Given the description of an element on the screen output the (x, y) to click on. 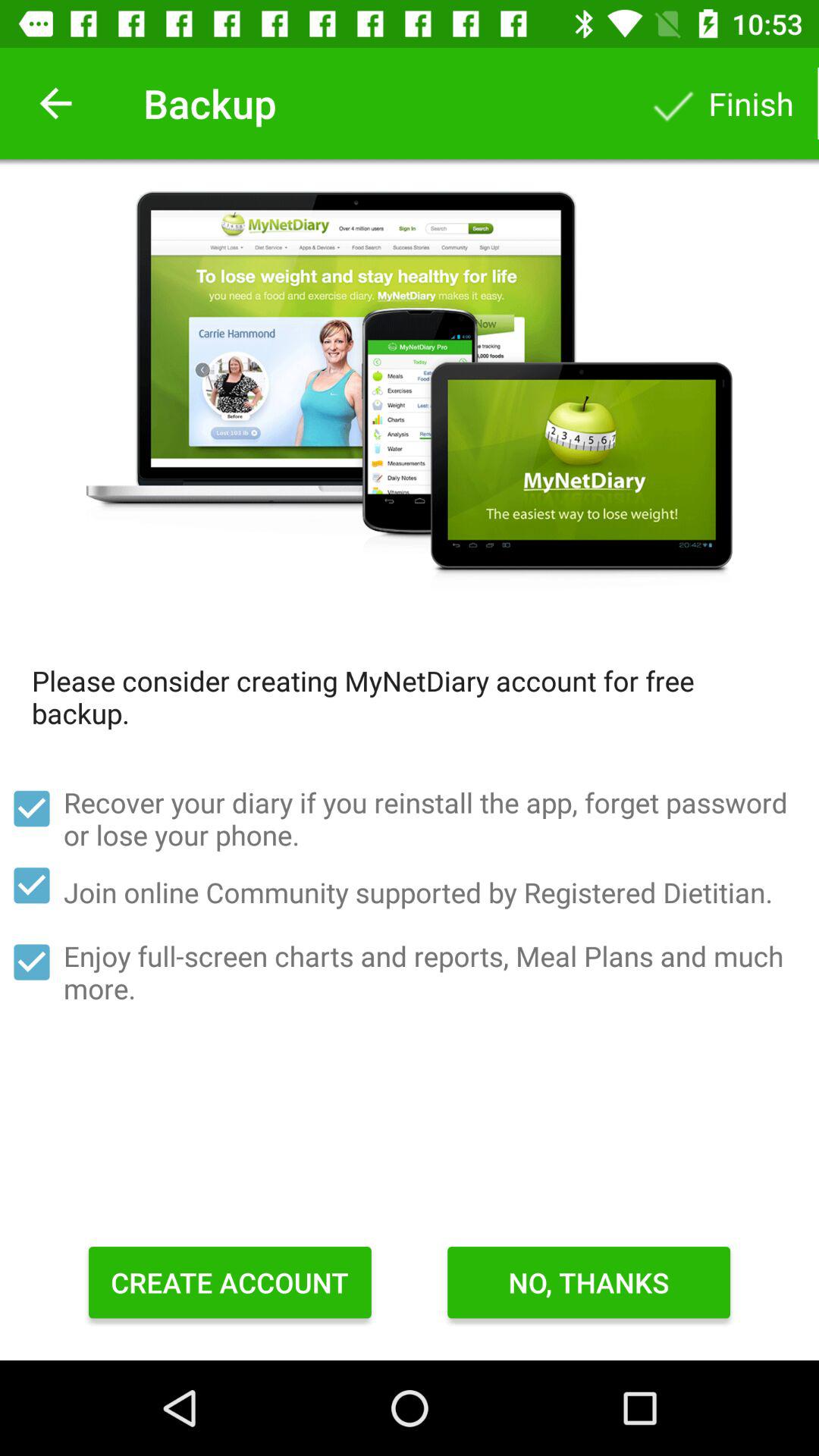
choose the icon to the left of no, thanks item (229, 1282)
